Given the description of an element on the screen output the (x, y) to click on. 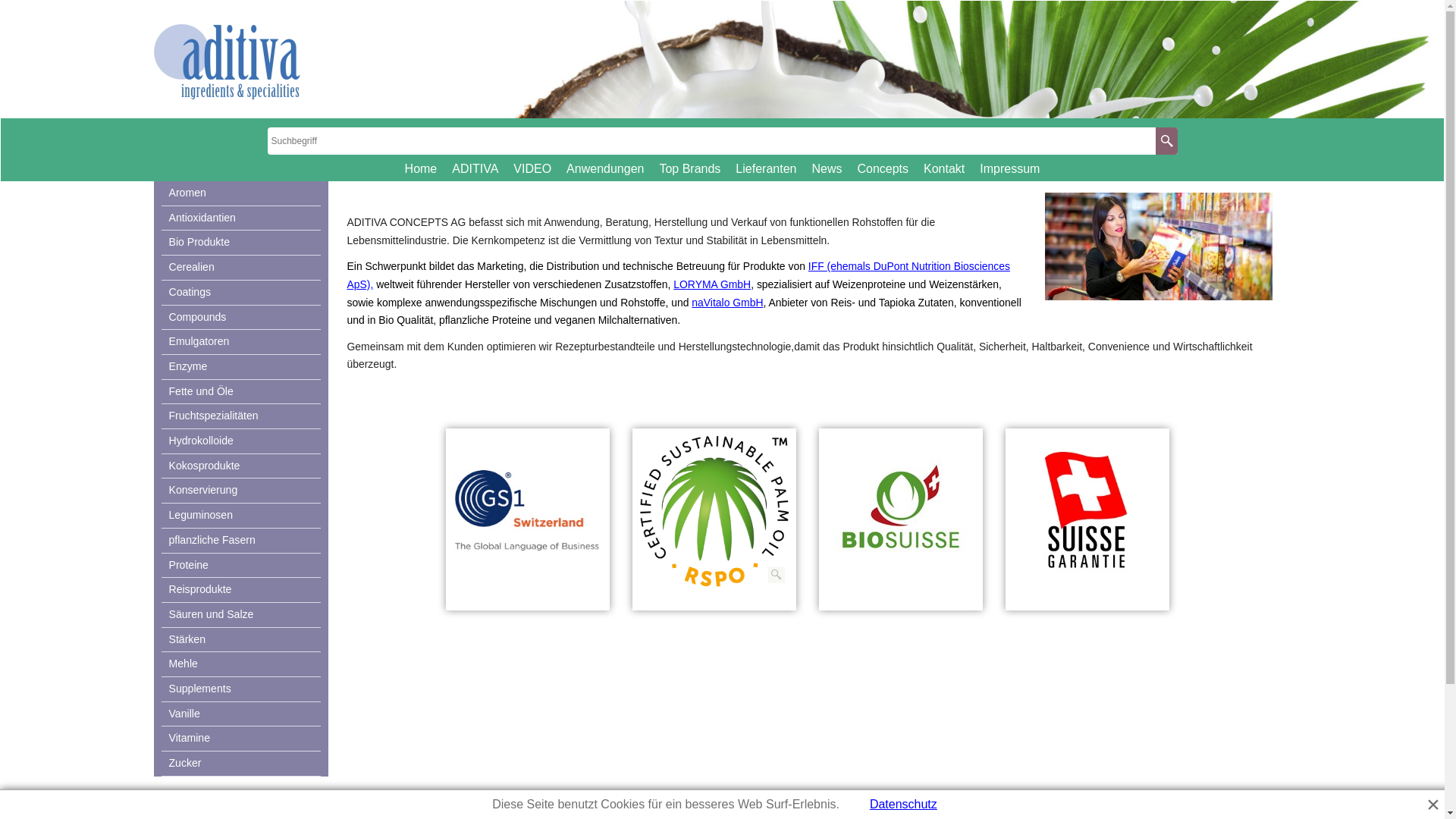
Antioxidantien Element type: text (240, 218)
Home Element type: text (421, 168)
IFF (ehemals DuPont Nutrition Biosciences ApS), Element type: text (678, 275)
Impressum Element type: text (1009, 168)
Hydrokolloide Element type: text (240, 441)
Proteine Element type: text (240, 565)
Mehle Element type: text (240, 664)
Kontakt Element type: text (944, 168)
Zucker Element type: text (240, 763)
pflanzliche Fasern Element type: text (240, 540)
VIDEO Element type: text (531, 168)
Vanille Element type: text (240, 714)
Bio Suisse zertifiziert Element type: hover (900, 510)
Compounds Element type: text (240, 317)
Leguminosen Element type: text (240, 515)
naVitalo GmbH Element type: text (726, 302)
Konservierung Element type: text (240, 490)
Aromen Element type: text (240, 193)
Suche  Element type: hover (1166, 140)
Coatings Element type: text (240, 292)
Emulgatoren Element type: text (240, 341)
Reisprodukte Element type: text (240, 589)
Anwendungen Element type: text (604, 168)
Cerealien Element type: text (240, 267)
Datenschutz Element type: text (903, 804)
Kokosprodukte Element type: text (240, 466)
Inhaltsstoffe Element type: hover (1158, 246)
Lieferanten Element type: text (765, 168)
Suisse Garantie zertifiziert Element type: hover (1086, 510)
LORYMA GmbH Element type: text (711, 284)
Supplements Element type: text (240, 689)
GS1 Member Element type: hover (527, 510)
News Element type: text (826, 168)
Enzyme Element type: text (240, 366)
Top Brands Element type: text (689, 168)
Bio Produkte Element type: text (240, 242)
ADITIVA Element type: text (474, 168)
RSPO Mitglied und RSPO Distributorlizenz Element type: hover (714, 511)
Concepts Element type: text (882, 168)
Vitamine Element type: text (240, 738)
